Given the description of an element on the screen output the (x, y) to click on. 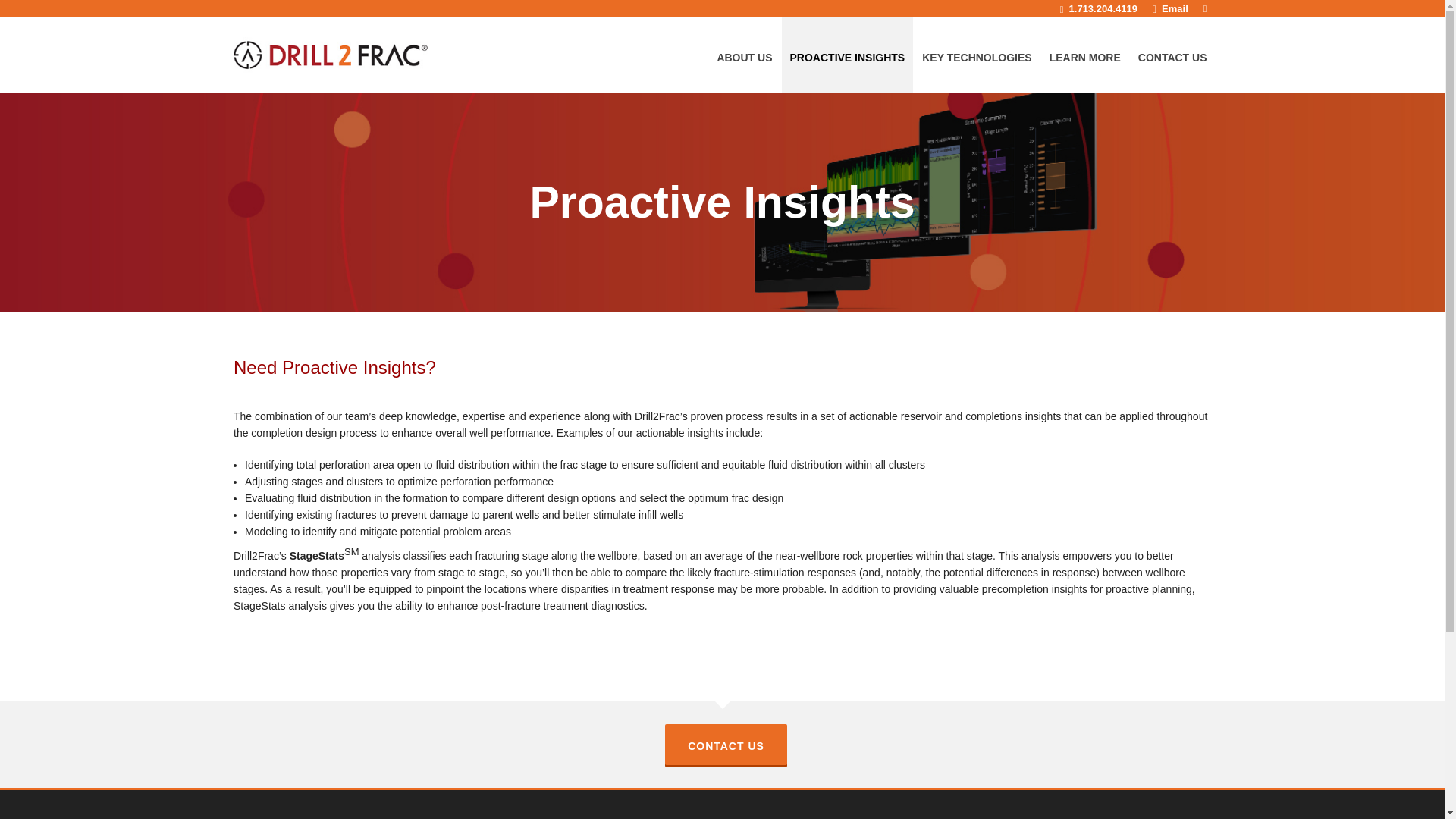
CONTACT US (726, 743)
PROACTIVE INSIGHTS (847, 55)
ABOUT US (743, 55)
KEY TECHNOLOGIES (976, 55)
CONTACT US (1172, 55)
1.713.204.4119 (1098, 8)
LEARN MORE (1085, 55)
Email (1170, 8)
